Given the description of an element on the screen output the (x, y) to click on. 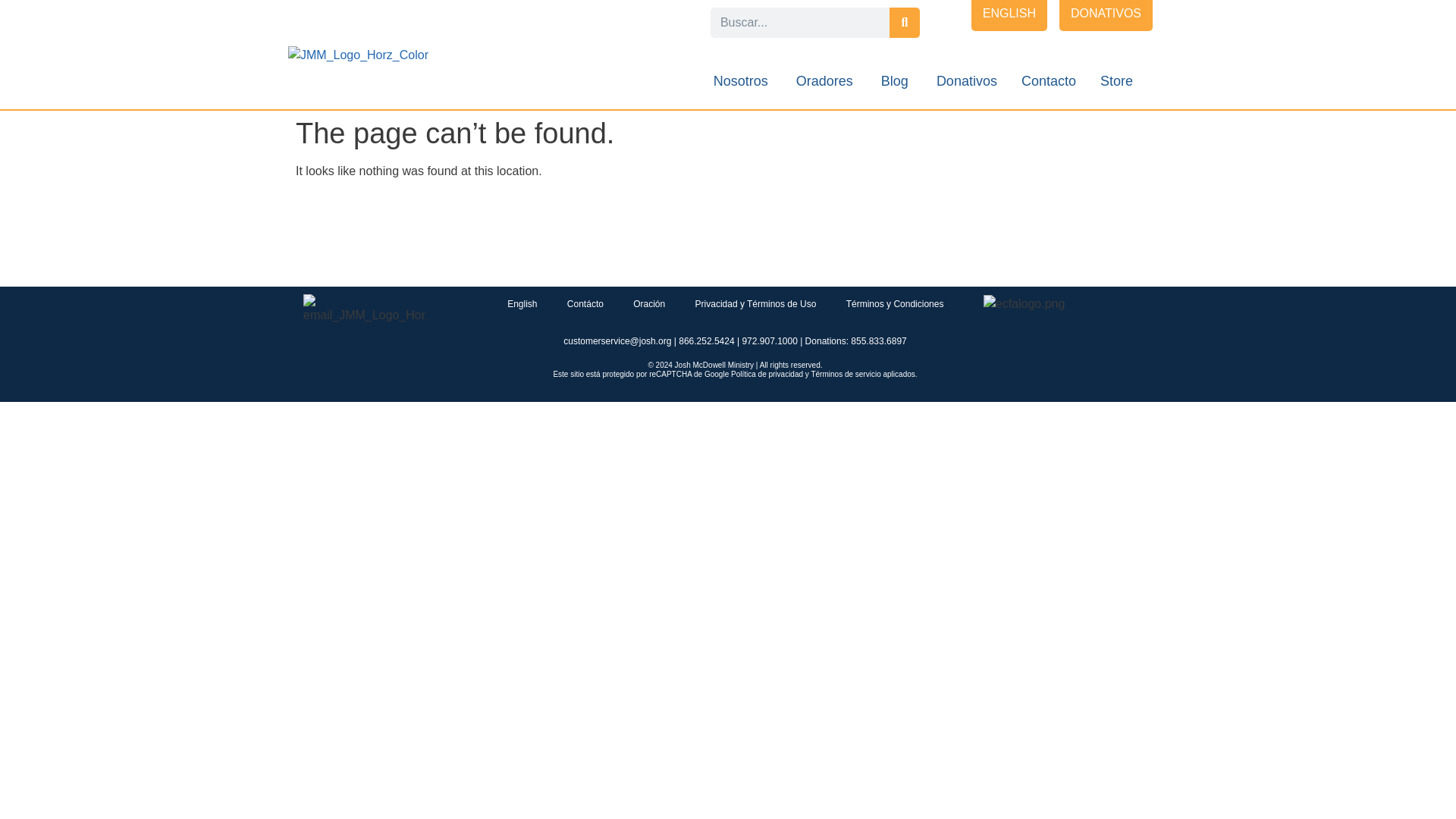
Donativos (966, 80)
Nosotros (740, 80)
English (521, 303)
DONATIVOS (1106, 15)
Blog (894, 80)
Oradores (824, 80)
Store (1116, 80)
Contacto (1048, 80)
ENGLISH (1008, 15)
ecfalogo.png (1024, 303)
